Given the description of an element on the screen output the (x, y) to click on. 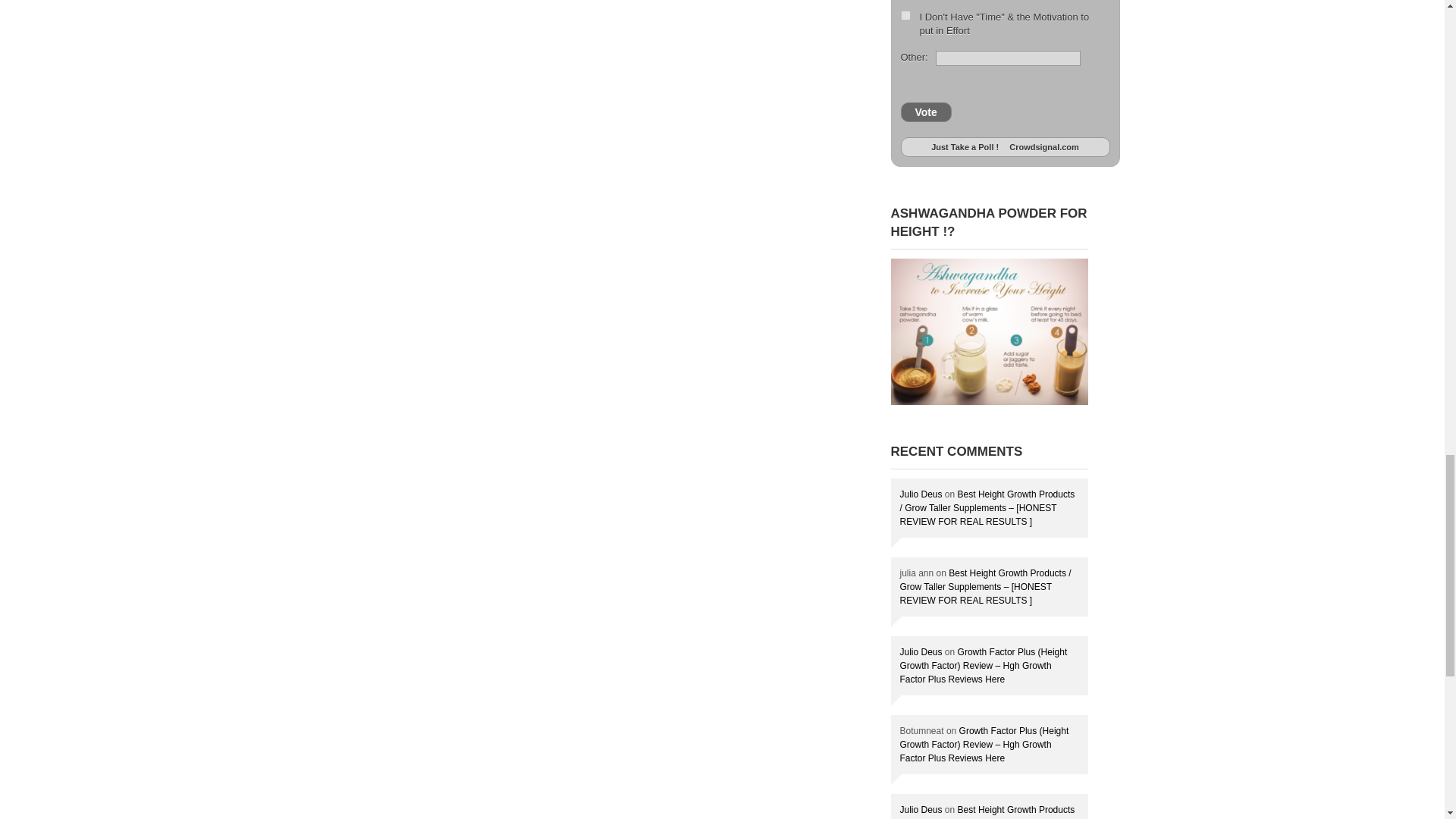
Julio Deus (920, 493)
Vote (926, 111)
37688122 (906, 15)
Just Take a Poll ! (965, 146)
Crowdsignal.com (1044, 146)
Julio Deus (920, 652)
